Given the description of an element on the screen output the (x, y) to click on. 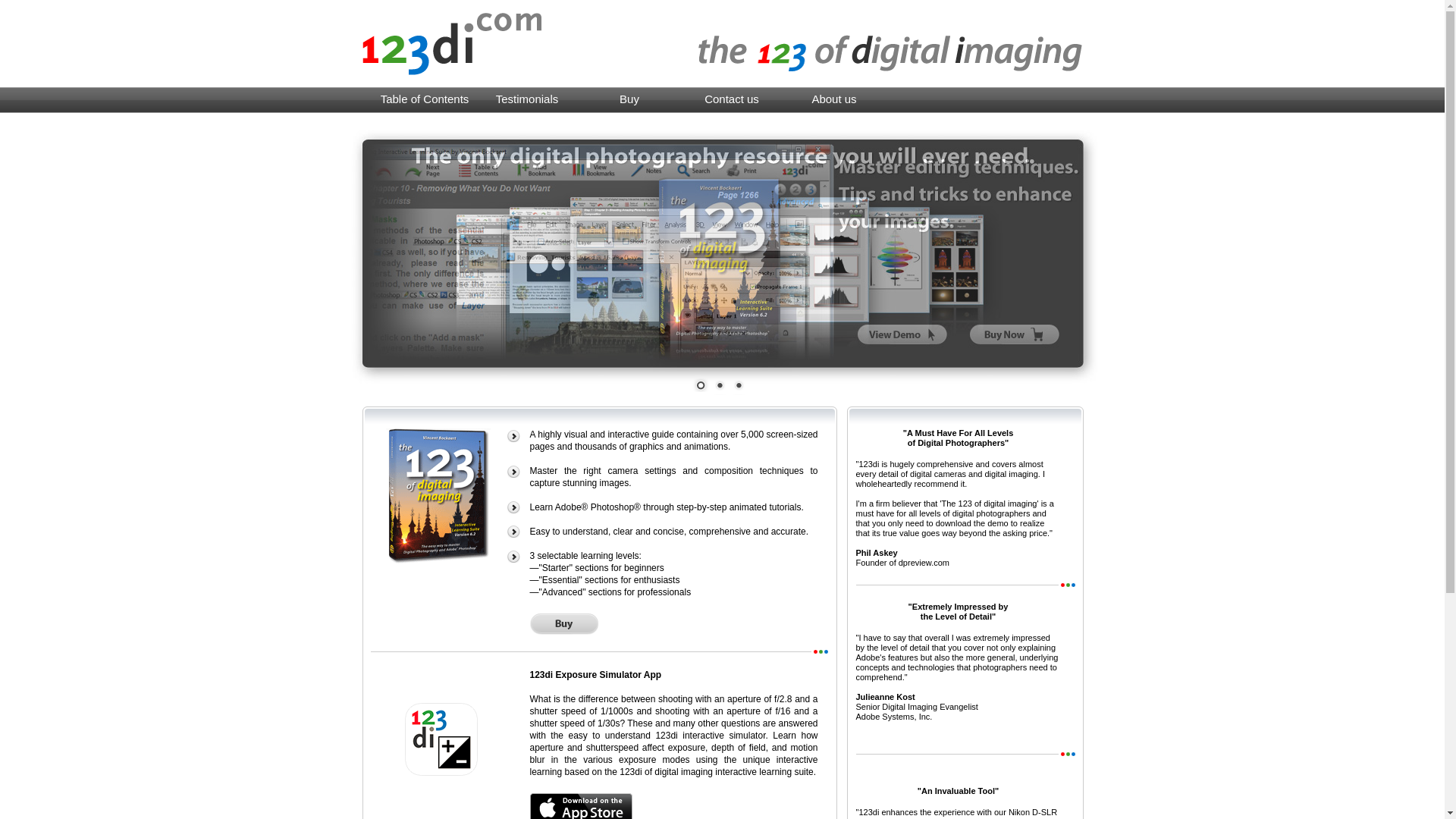
2 Element type: text (719, 386)
About us Element type: text (833, 99)
Buy Element type: text (628, 99)
Testimonials Element type: text (527, 99)
1 Element type: text (699, 386)
Contact us Element type: text (731, 99)
3 Element type: text (737, 386)
Table of Contents Element type: text (424, 99)
